Given the description of an element on the screen output the (x, y) to click on. 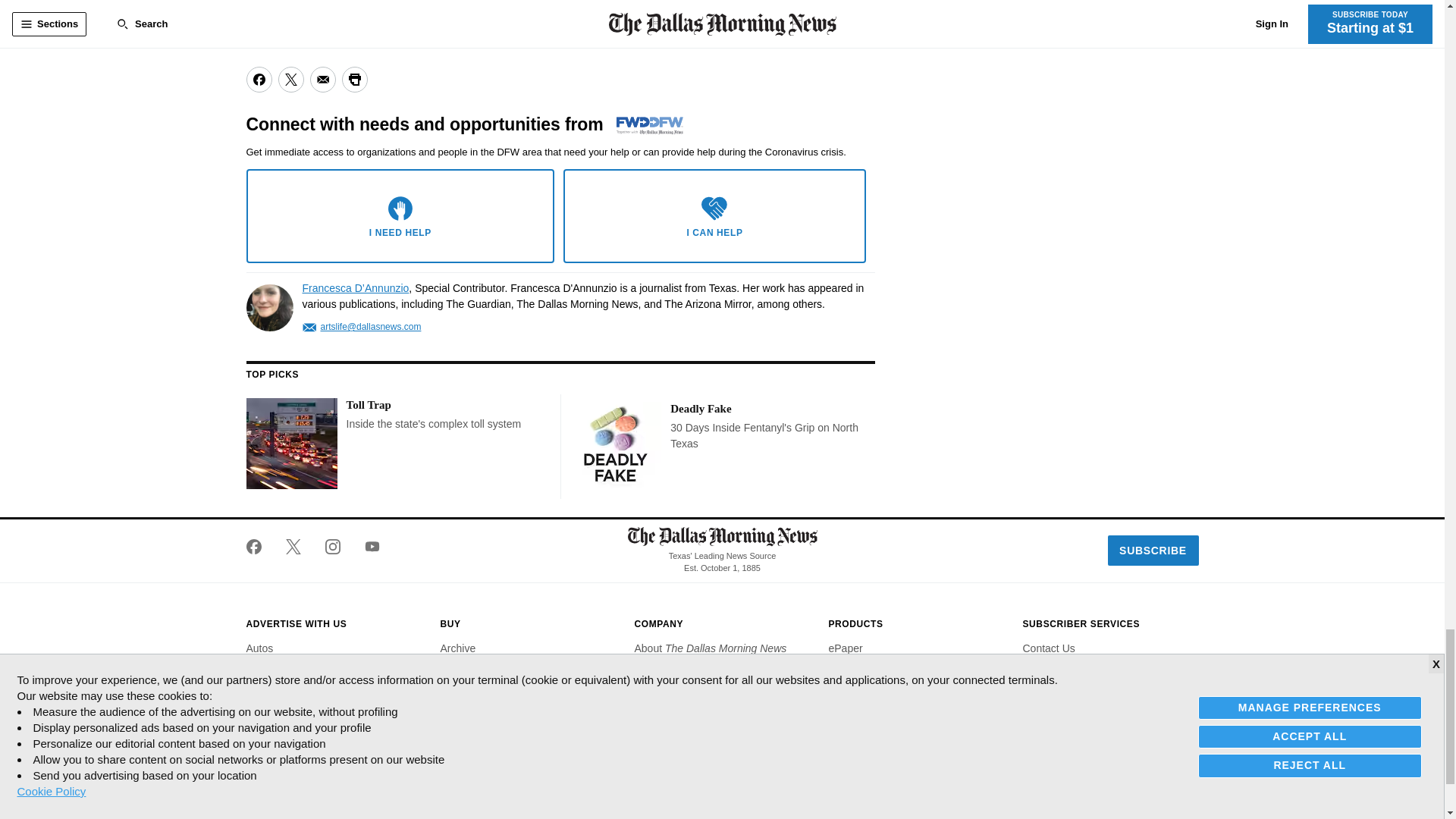
The Dallas Morning News on Facebook (259, 546)
The Dallas Morning News on Instagram (332, 546)
Share on Twitter (290, 79)
The Dallas Morning News on Twitter (293, 546)
Share via Email (321, 79)
The Dallas Morning News on YouTube (365, 546)
Print (353, 79)
Share on Facebook (258, 79)
